Given the description of an element on the screen output the (x, y) to click on. 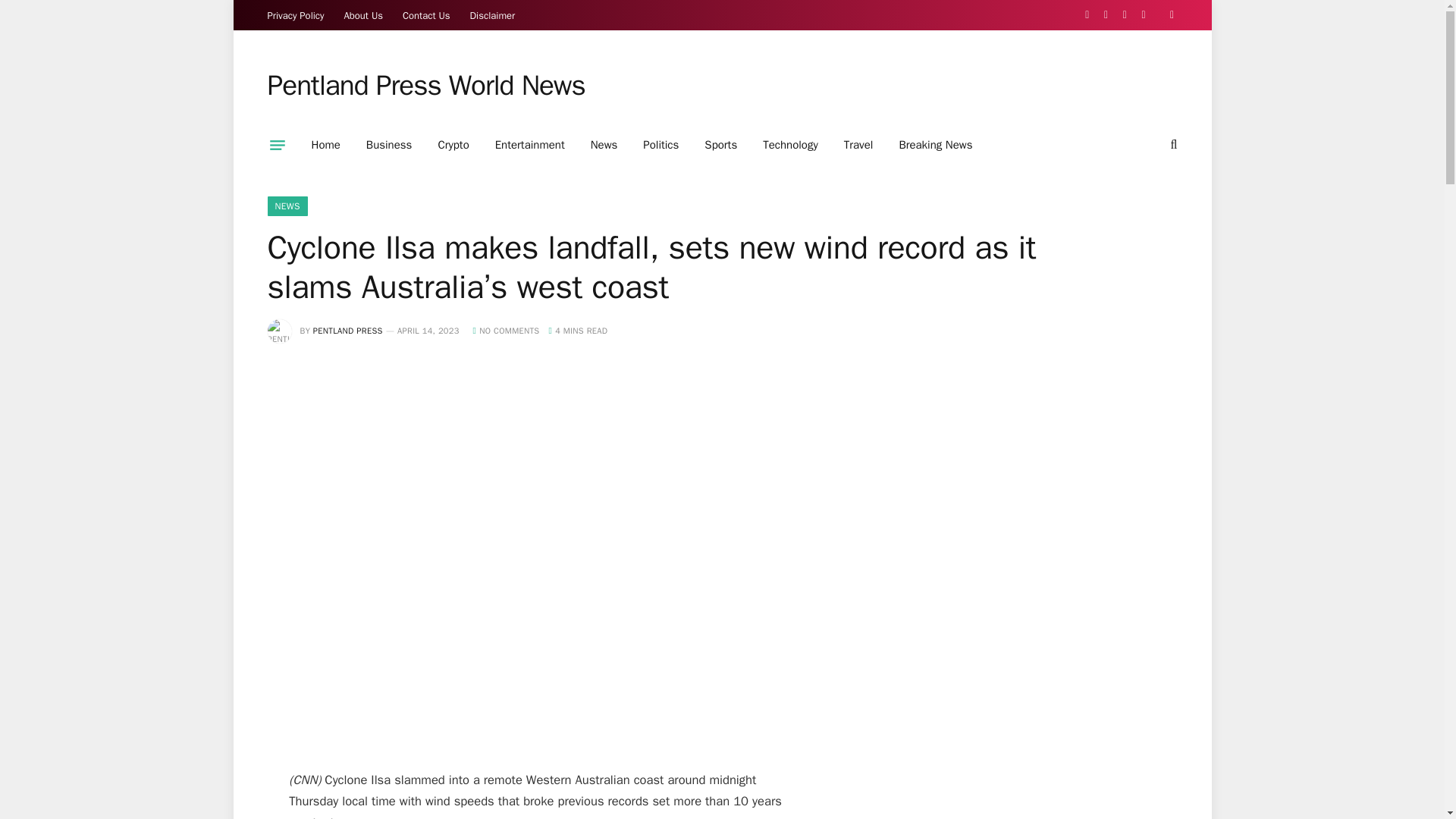
Instagram (1125, 15)
Travel (858, 144)
Privacy Policy (295, 15)
Contact Us (426, 15)
Pentland Press World News (425, 85)
NO COMMENTS (506, 330)
Facebook (1087, 15)
NEWS (286, 206)
Sports (720, 144)
Business (389, 144)
Disclaimer (492, 15)
Politics (660, 144)
YouTube (1144, 15)
Pentland Press World News (425, 85)
Technology (790, 144)
